Given the description of an element on the screen output the (x, y) to click on. 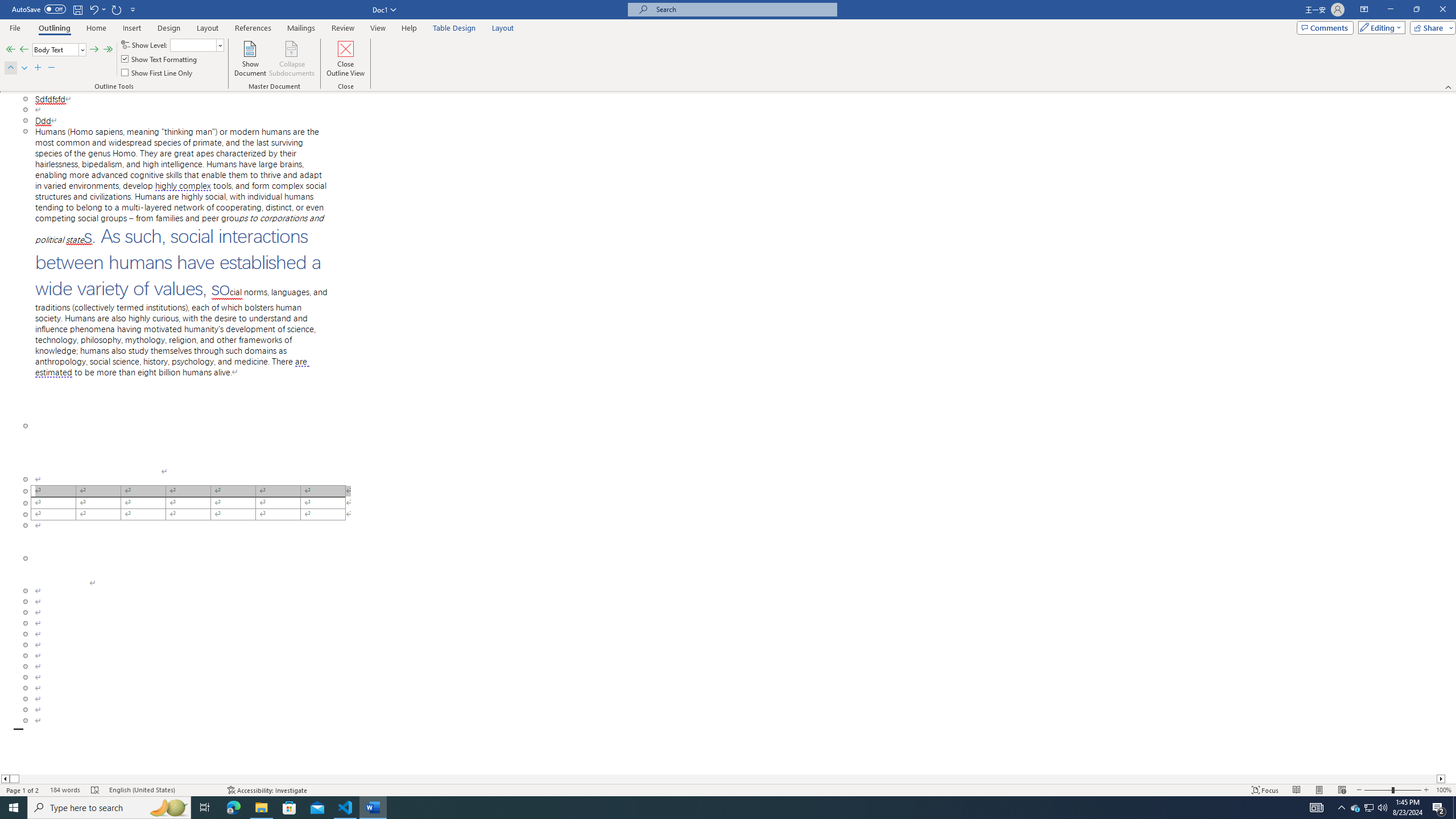
Page right (727, 778)
Ribbon Display Options (1364, 9)
Accessibility Checker Accessibility: Investigate (266, 790)
Web Layout (1342, 790)
Home (96, 28)
Show First Line Only (157, 72)
Collapse Subdocuments (291, 58)
Demote (94, 49)
Demote to Body Text (108, 49)
